Given the description of an element on the screen output the (x, y) to click on. 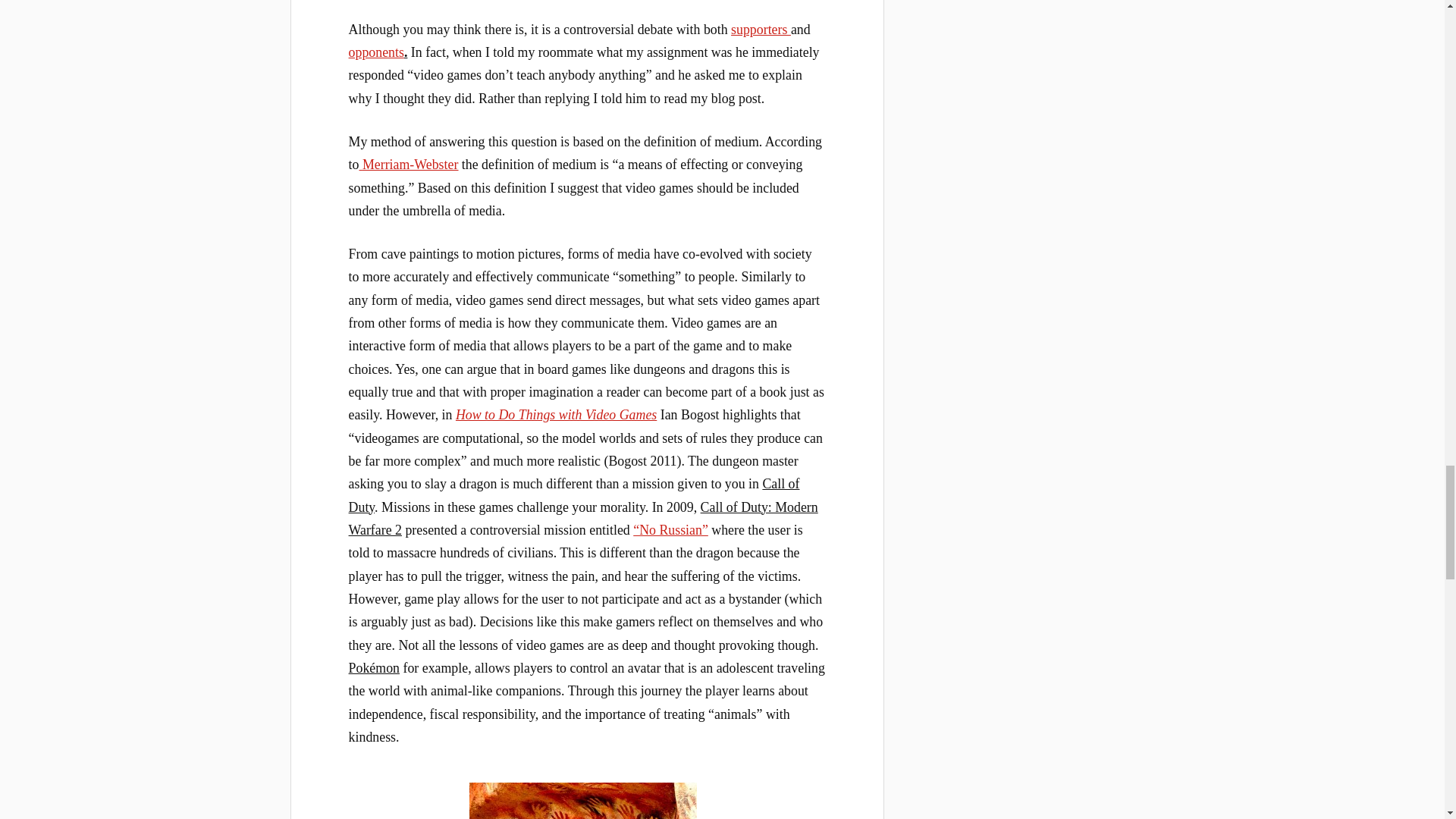
opponents (376, 52)
Merriam-Webster (408, 164)
How to Do Things with Video Games (555, 414)
supporters (760, 29)
